Given the description of an element on the screen output the (x, y) to click on. 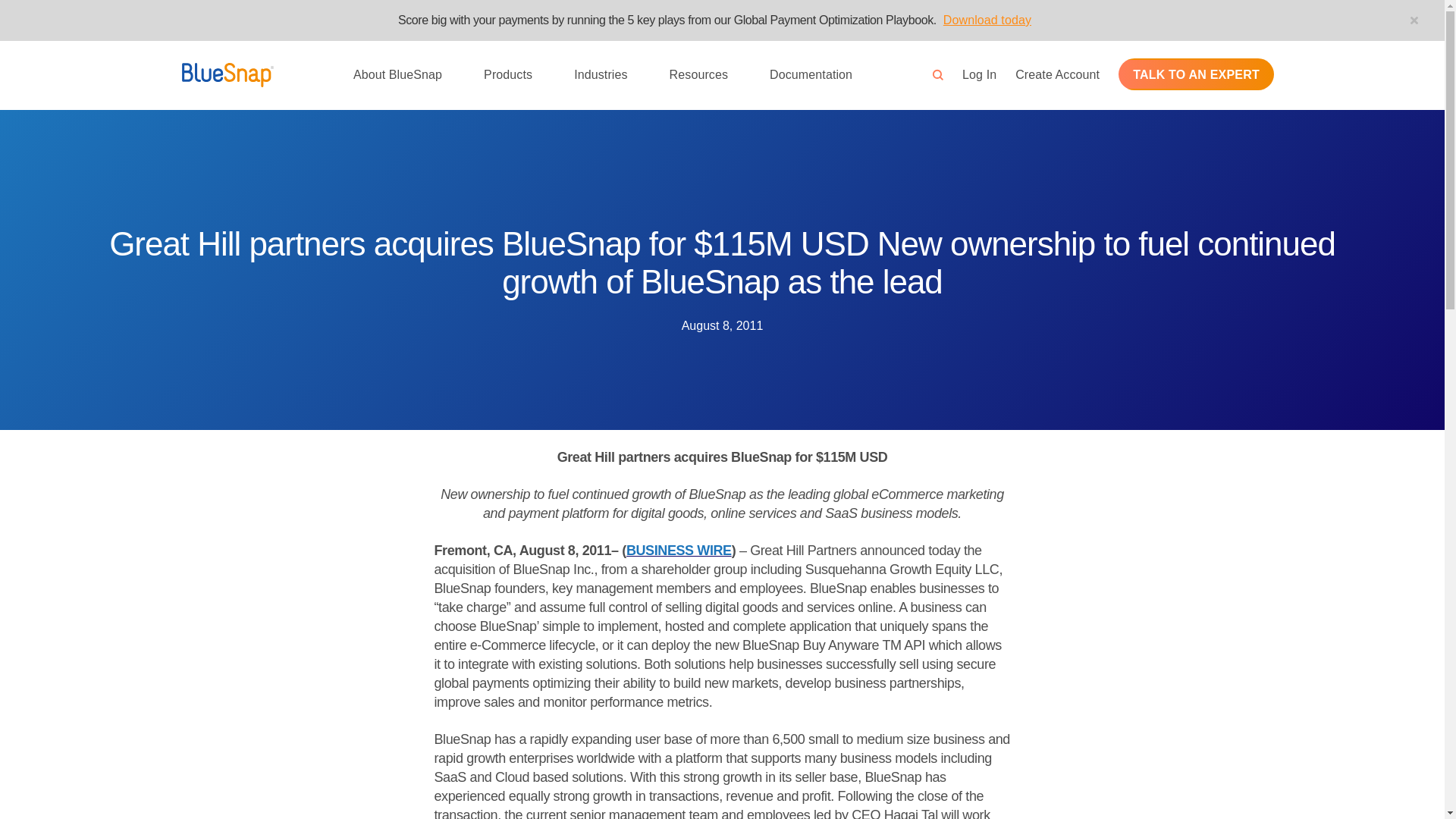
Download today (994, 20)
Home (227, 74)
About BlueSnap (397, 74)
Dismiss message (1414, 20)
